Given the description of an element on the screen output the (x, y) to click on. 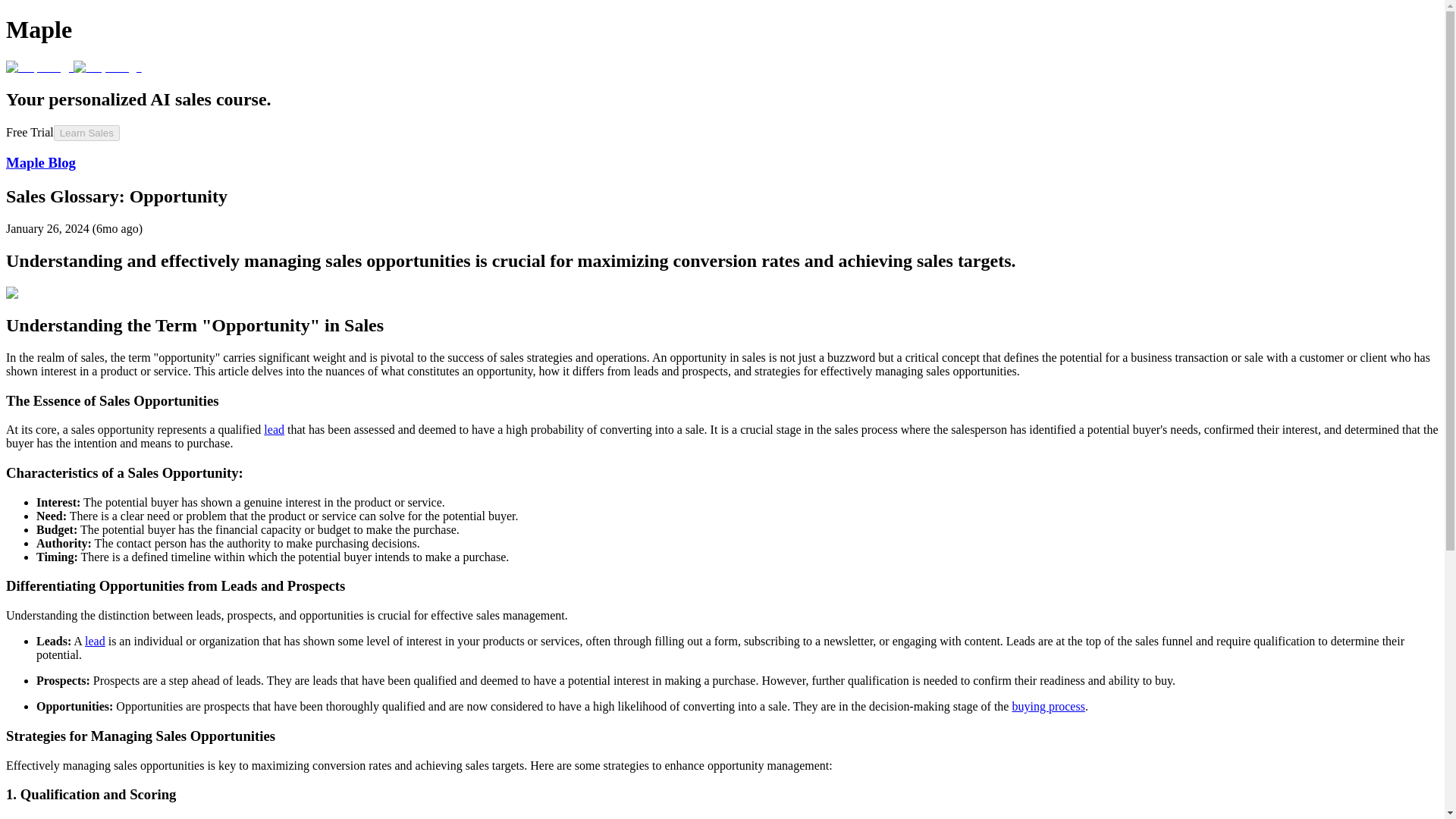
Learn Sales (86, 132)
lead (94, 640)
buying process (1047, 706)
Learn Sales (86, 132)
lead (273, 429)
